Given the description of an element on the screen output the (x, y) to click on. 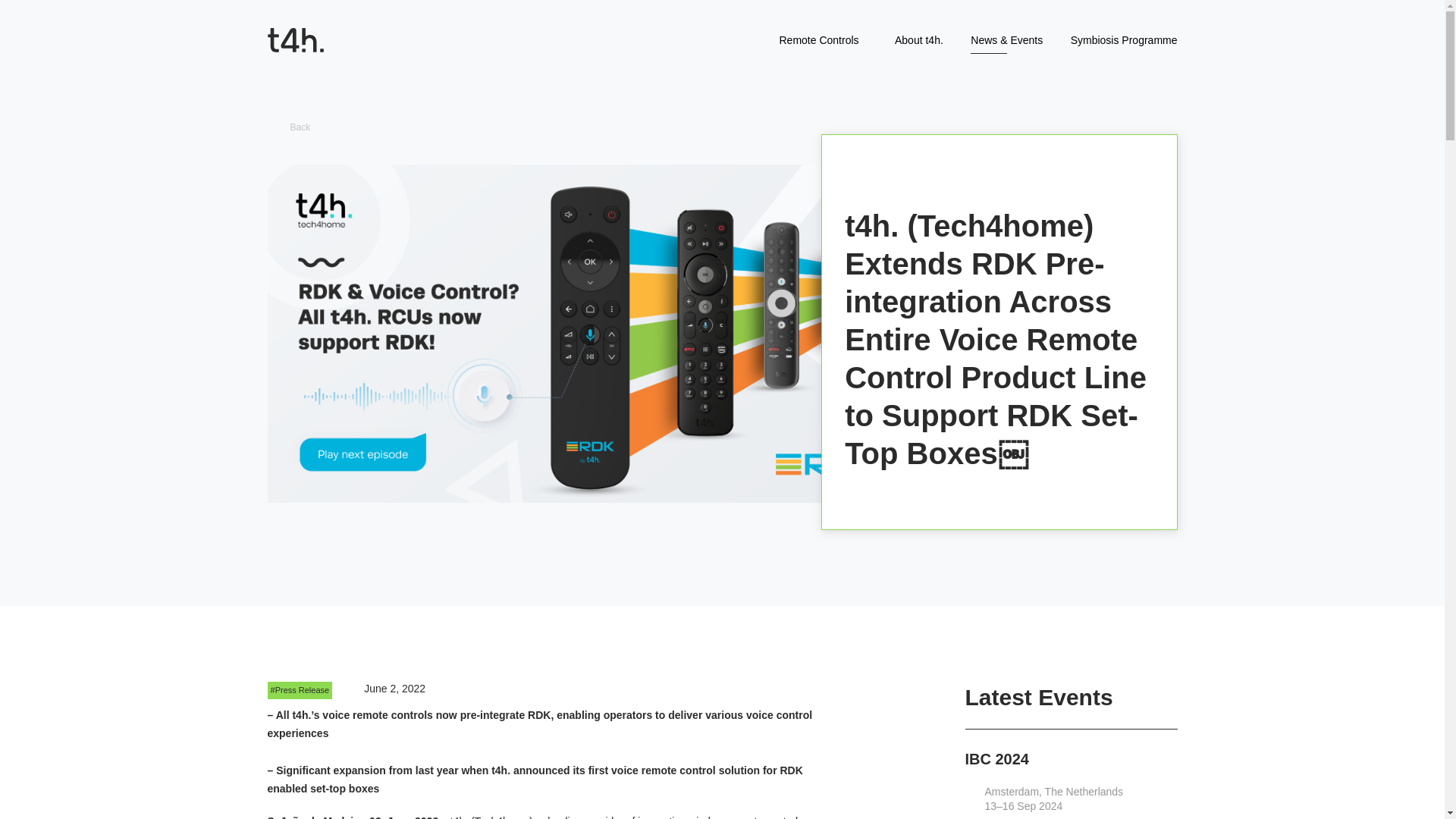
Symbiosis Programme (1123, 40)
Remote Controls (818, 40)
Back (732, 127)
Symbiosis Programme (1123, 40)
About t4h. (919, 40)
About t4h. (919, 40)
Remote Controls (818, 40)
